Given the description of an element on the screen output the (x, y) to click on. 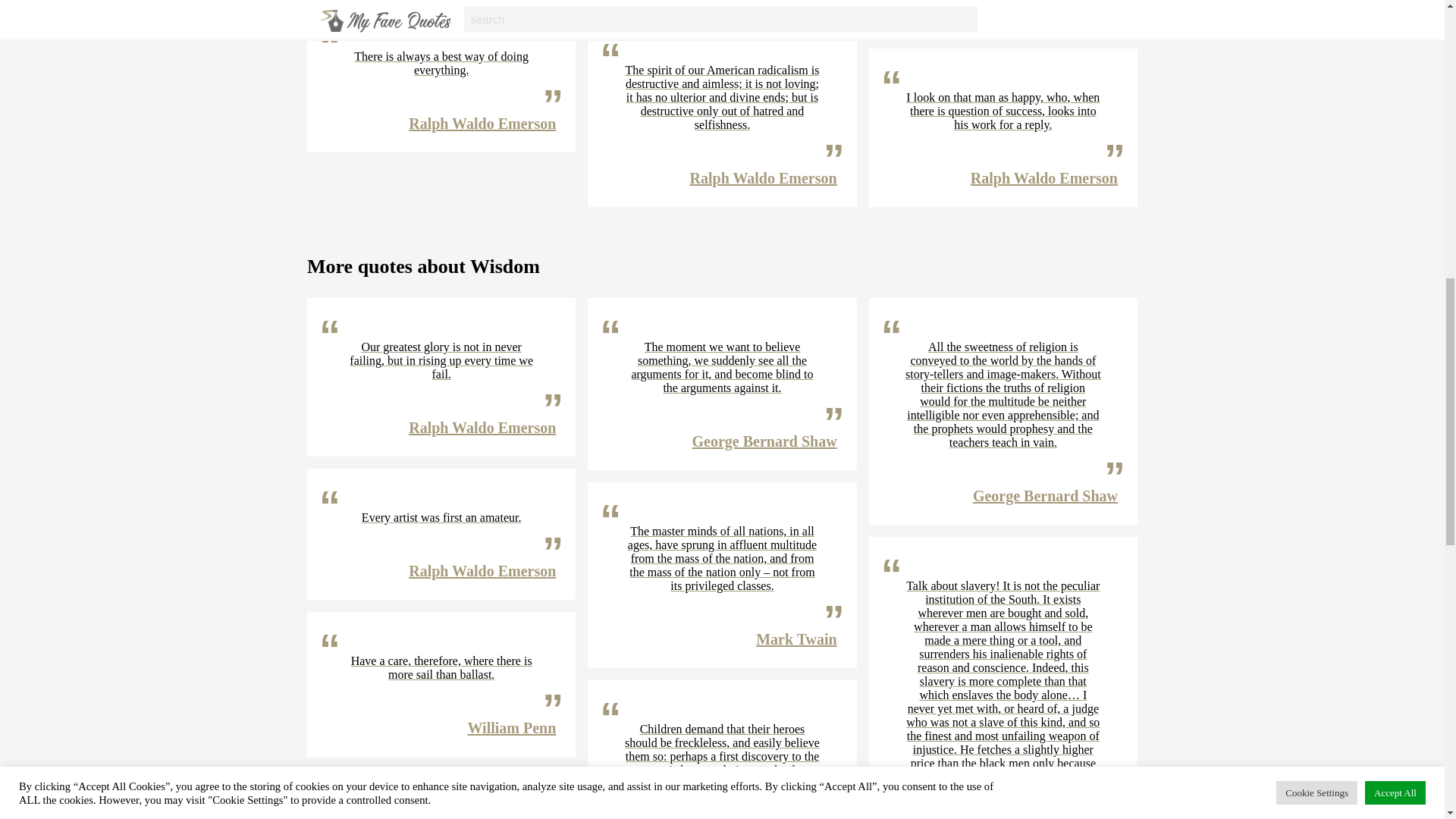
Ralph Waldo Emerson (1044, 177)
There is always a best way of doing everything. (440, 62)
Ralph Waldo Emerson (482, 123)
Every artist was first an amateur. (440, 517)
Ralph Waldo Emerson (482, 570)
Ralph Waldo Emerson (482, 427)
Ralph Waldo Emerson (1044, 7)
Ralph Waldo Emerson (763, 177)
William Penn (511, 727)
